Given the description of an element on the screen output the (x, y) to click on. 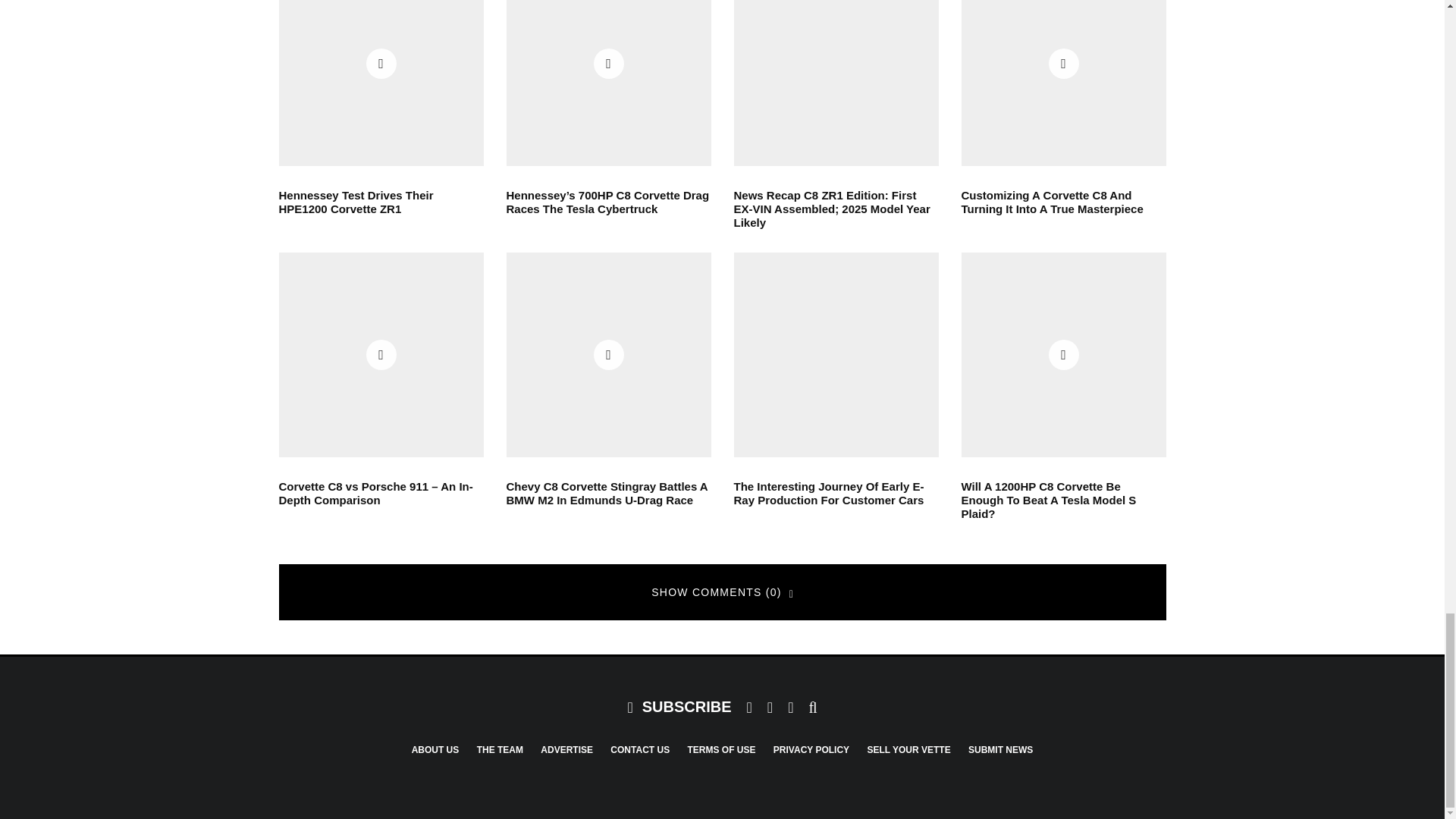
maxresdefault (608, 354)
maxresdefault (608, 83)
New ZR1 Spied (836, 83)
maxresdefault (381, 83)
